Given the description of an element on the screen output the (x, y) to click on. 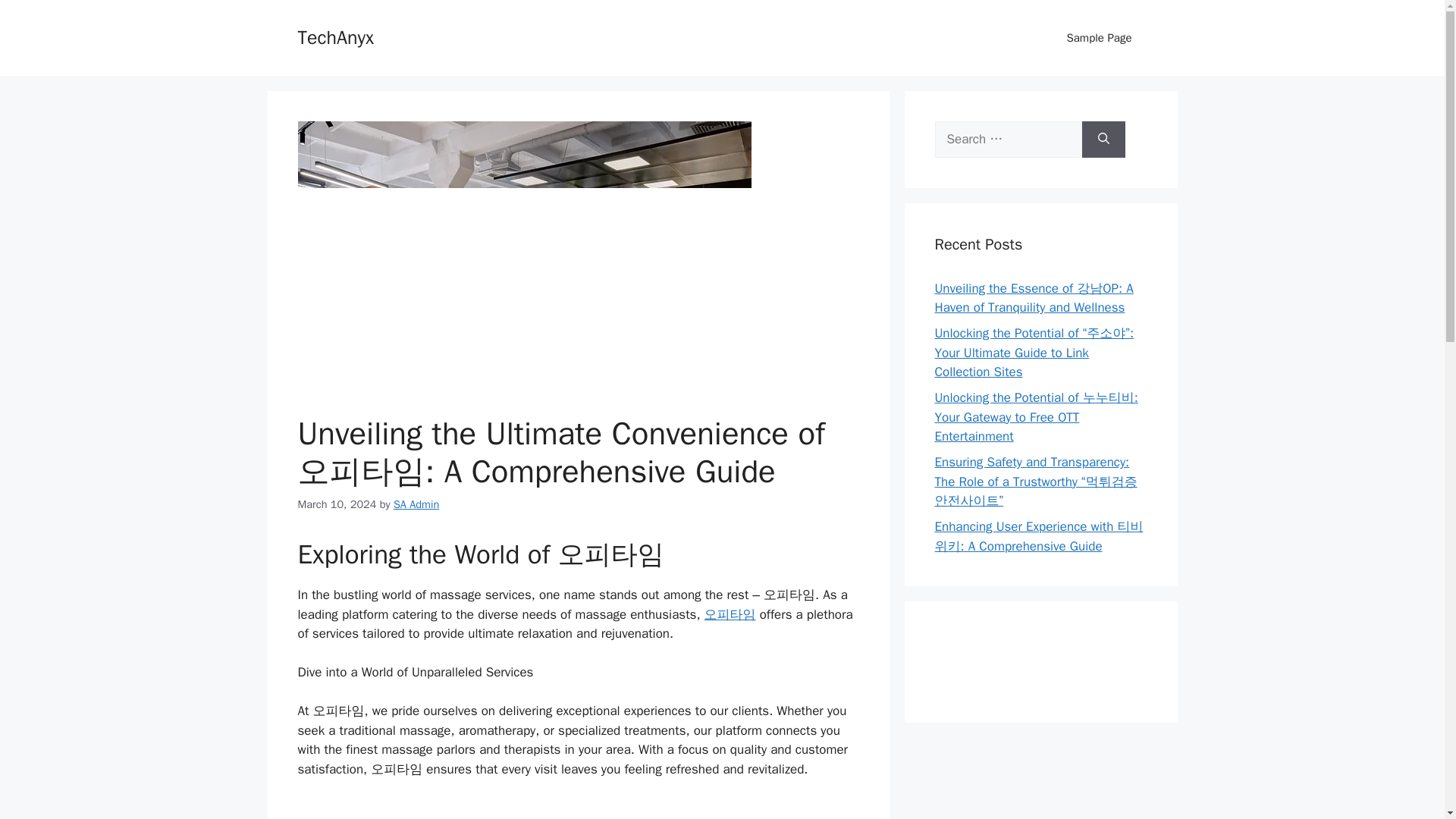
SA Admin (416, 504)
Search for: (1007, 139)
TechAnyx (334, 37)
Sample Page (1099, 37)
View all posts by SA Admin (416, 504)
